Given the description of an element on the screen output the (x, y) to click on. 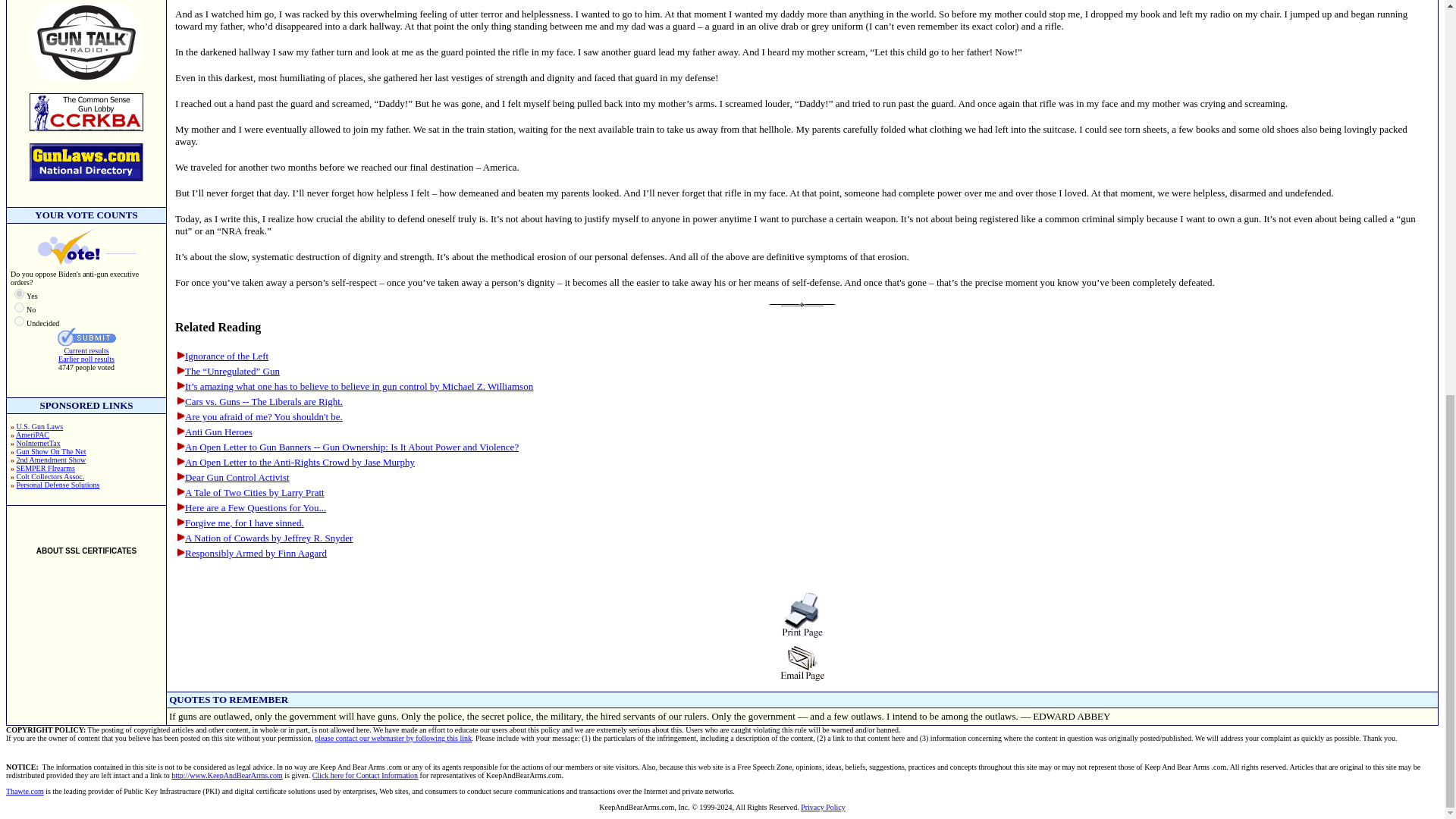
Colt Collectors Assoc. (50, 476)
Gun Show On The Net (50, 451)
NoInternetTax (38, 442)
Earlier poll results (86, 358)
2nd Amendment Show (50, 459)
Current results (85, 350)
3 (19, 320)
U.S. Gun Laws (40, 426)
Vote Now! (86, 336)
2 (19, 307)
1 (19, 293)
SEMPER FIrearms (45, 468)
AmeriPAC (32, 434)
